Given the description of an element on the screen output the (x, y) to click on. 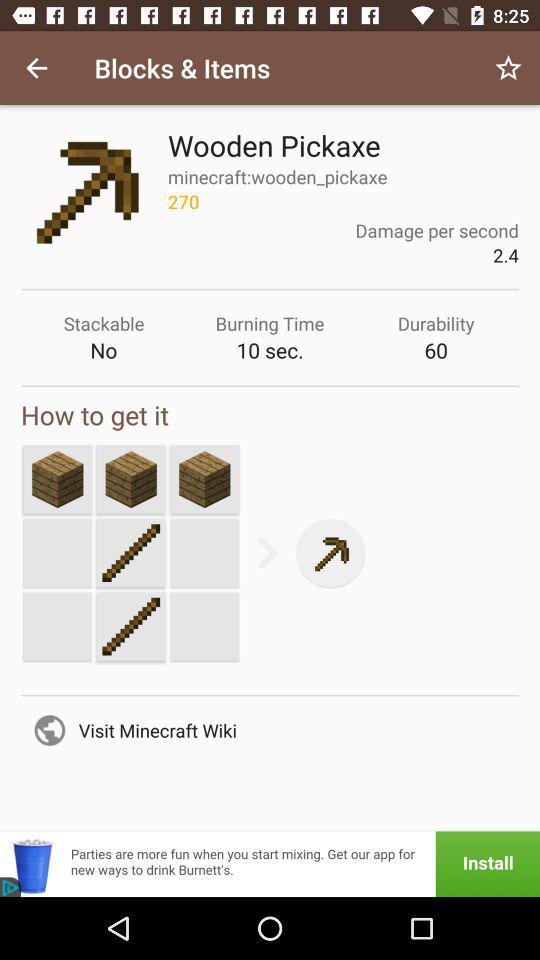
strike a new screen (57, 479)
